Given the description of an element on the screen output the (x, y) to click on. 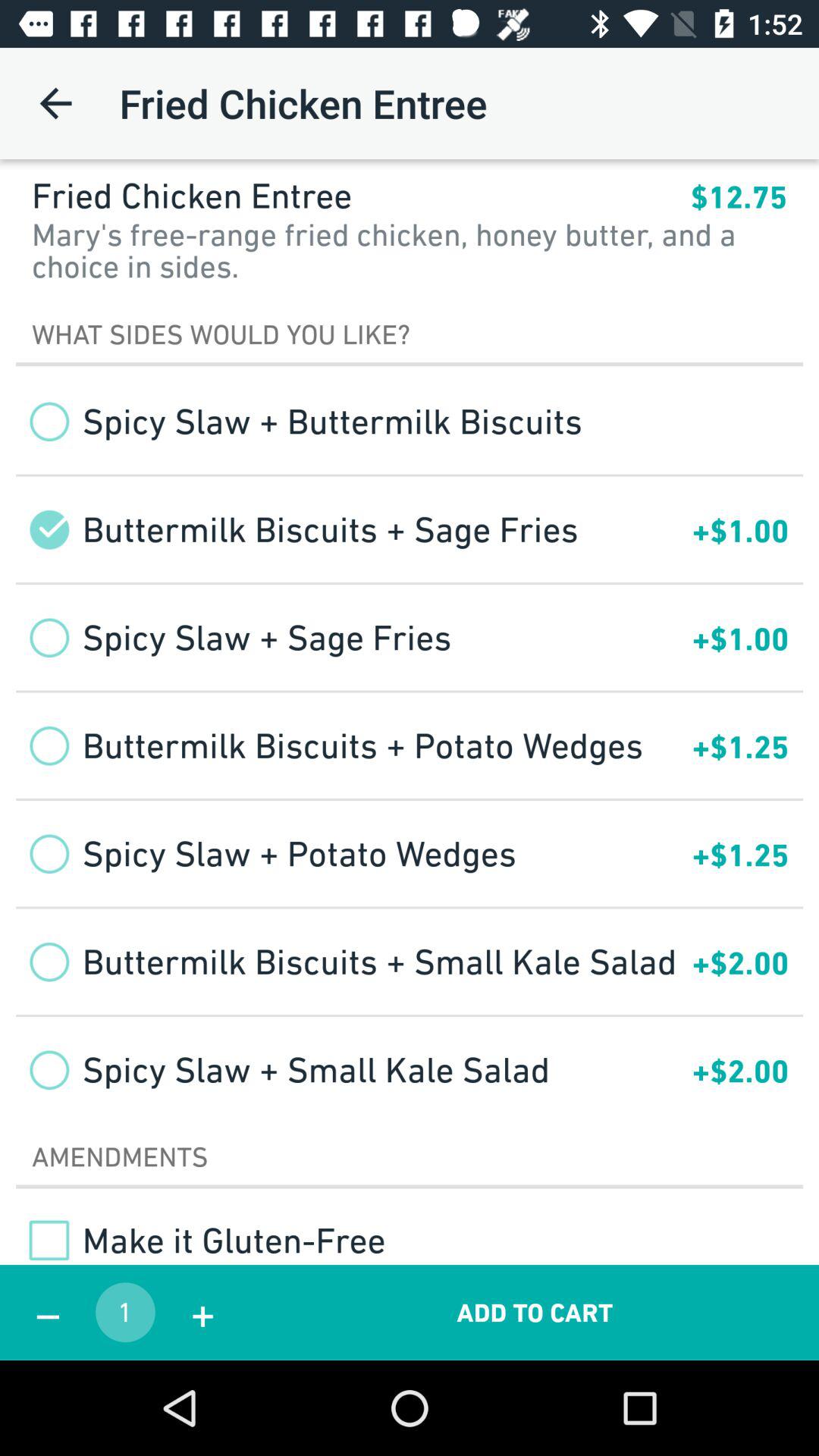
press the item next to fried chicken entree icon (55, 103)
